Given the description of an element on the screen output the (x, y) to click on. 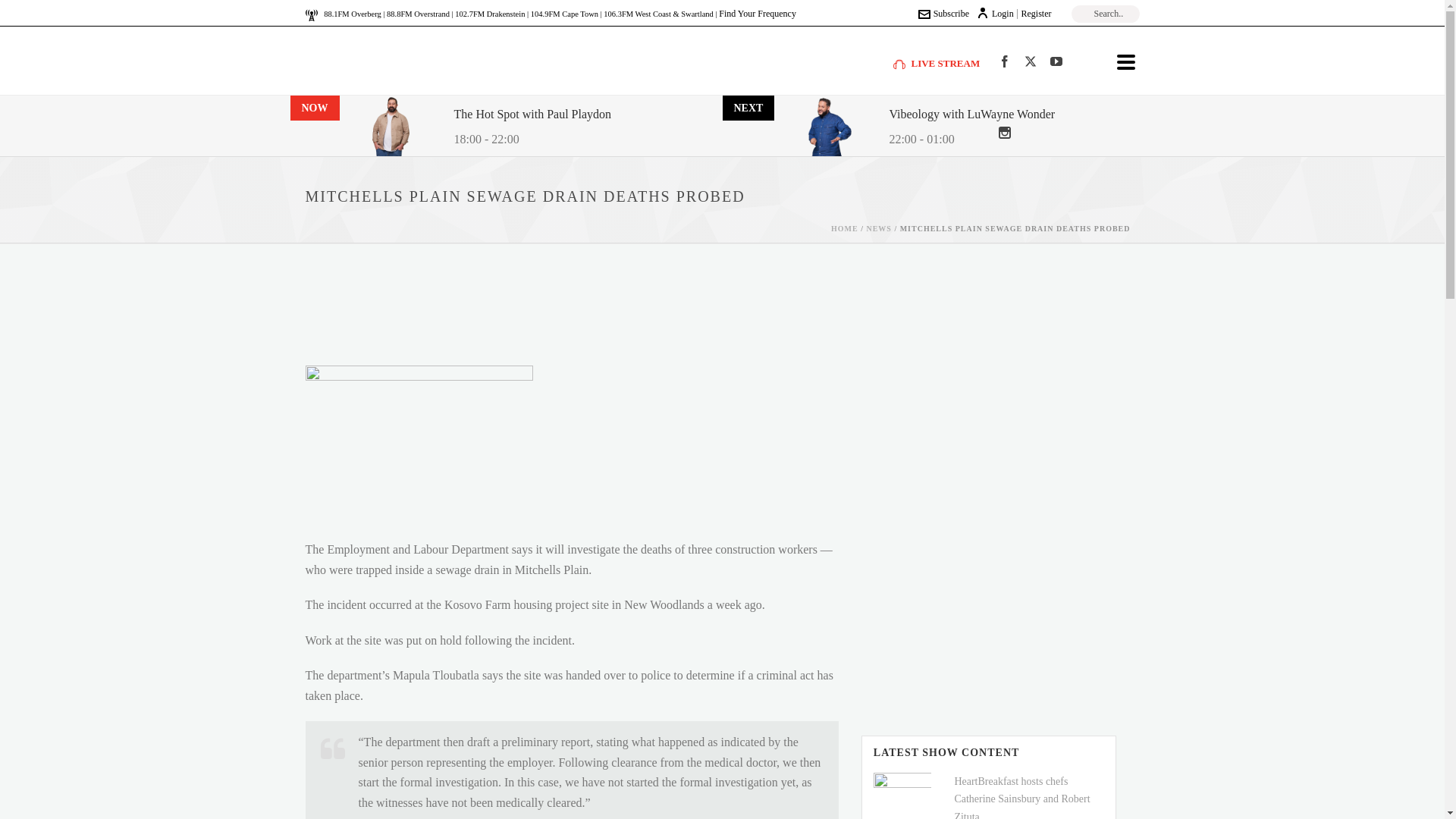
Login (994, 13)
Find Your Frequency (757, 13)
The Hot Spot with Paul Playdon (531, 114)
Register (1035, 13)
HOME (845, 228)
Vibeology with LuWayne Wonder (971, 114)
Subscribe (943, 13)
LIVE STREAM (936, 62)
LIVE STREAM (936, 62)
NEWS (878, 228)
